Given the description of an element on the screen output the (x, y) to click on. 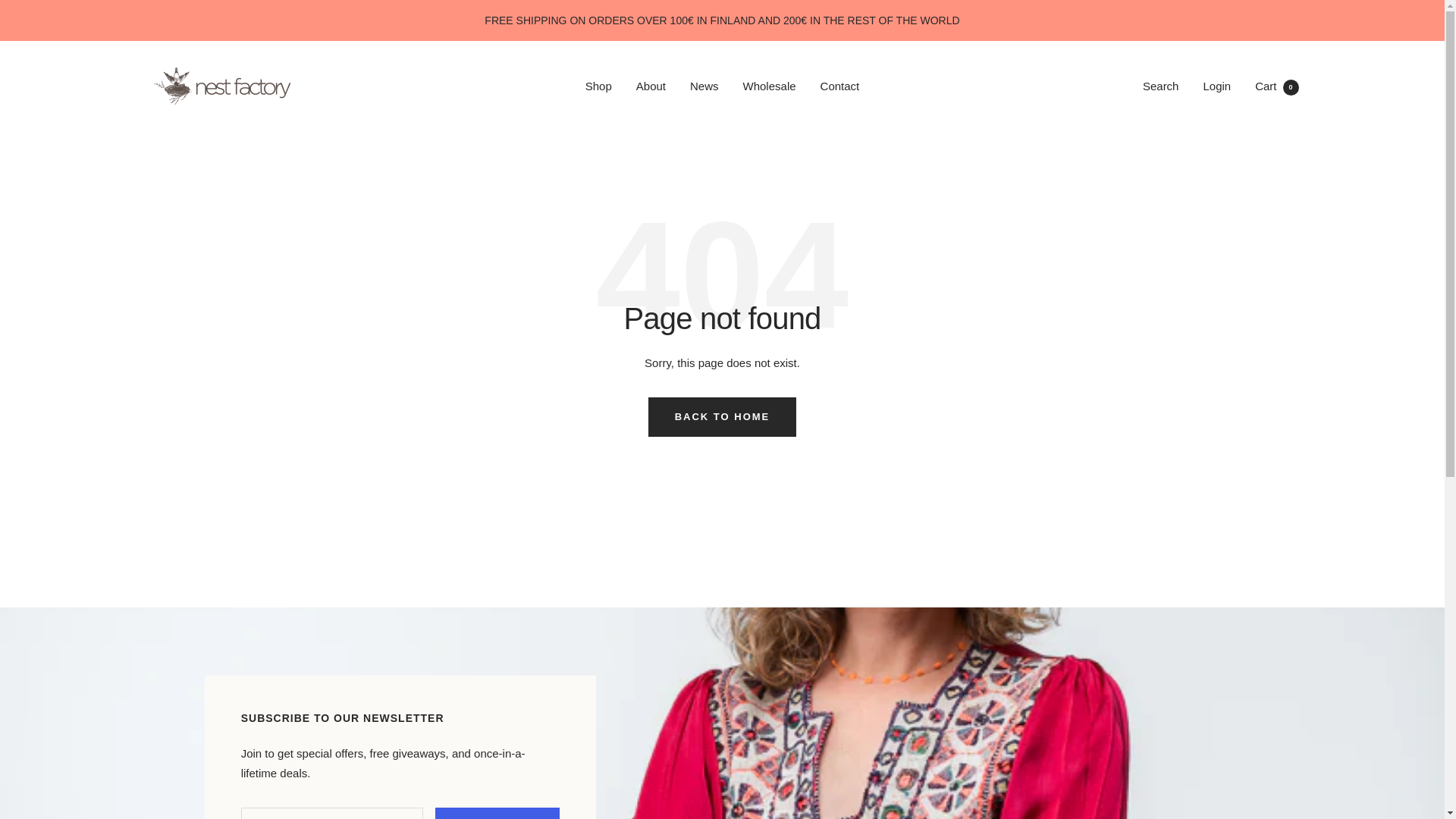
About (650, 85)
SUBSCRIBE (497, 813)
BACK TO HOME (721, 416)
News (704, 85)
Login (1216, 84)
Nest Factory (221, 85)
Search (1160, 84)
Contact (840, 85)
Wholesale (769, 85)
